Given the description of an element on the screen output the (x, y) to click on. 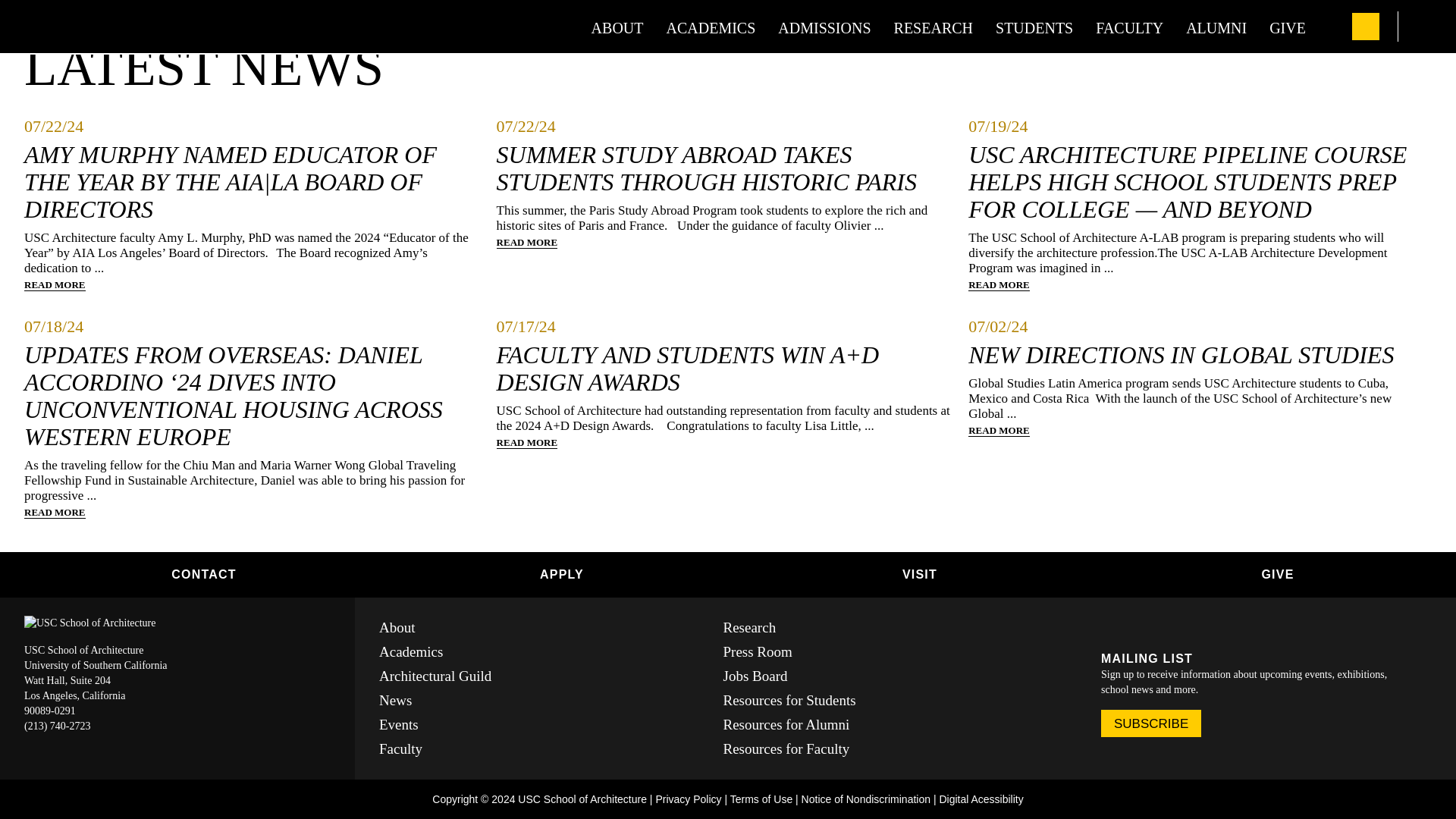
Youtube (1181, 627)
linkedin (1132, 627)
Facebook (1109, 627)
Instagram (1155, 627)
